Given the description of an element on the screen output the (x, y) to click on. 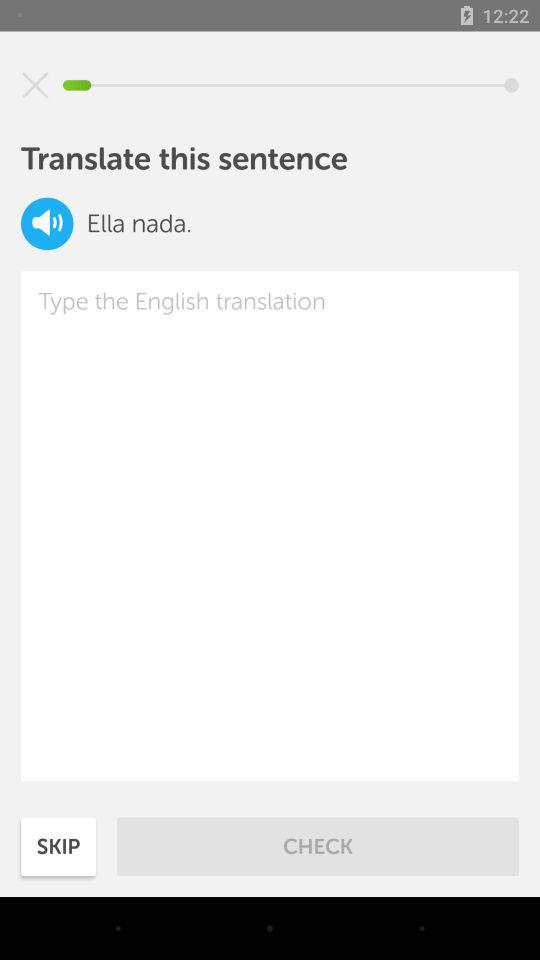
volume (47, 223)
